Given the description of an element on the screen output the (x, y) to click on. 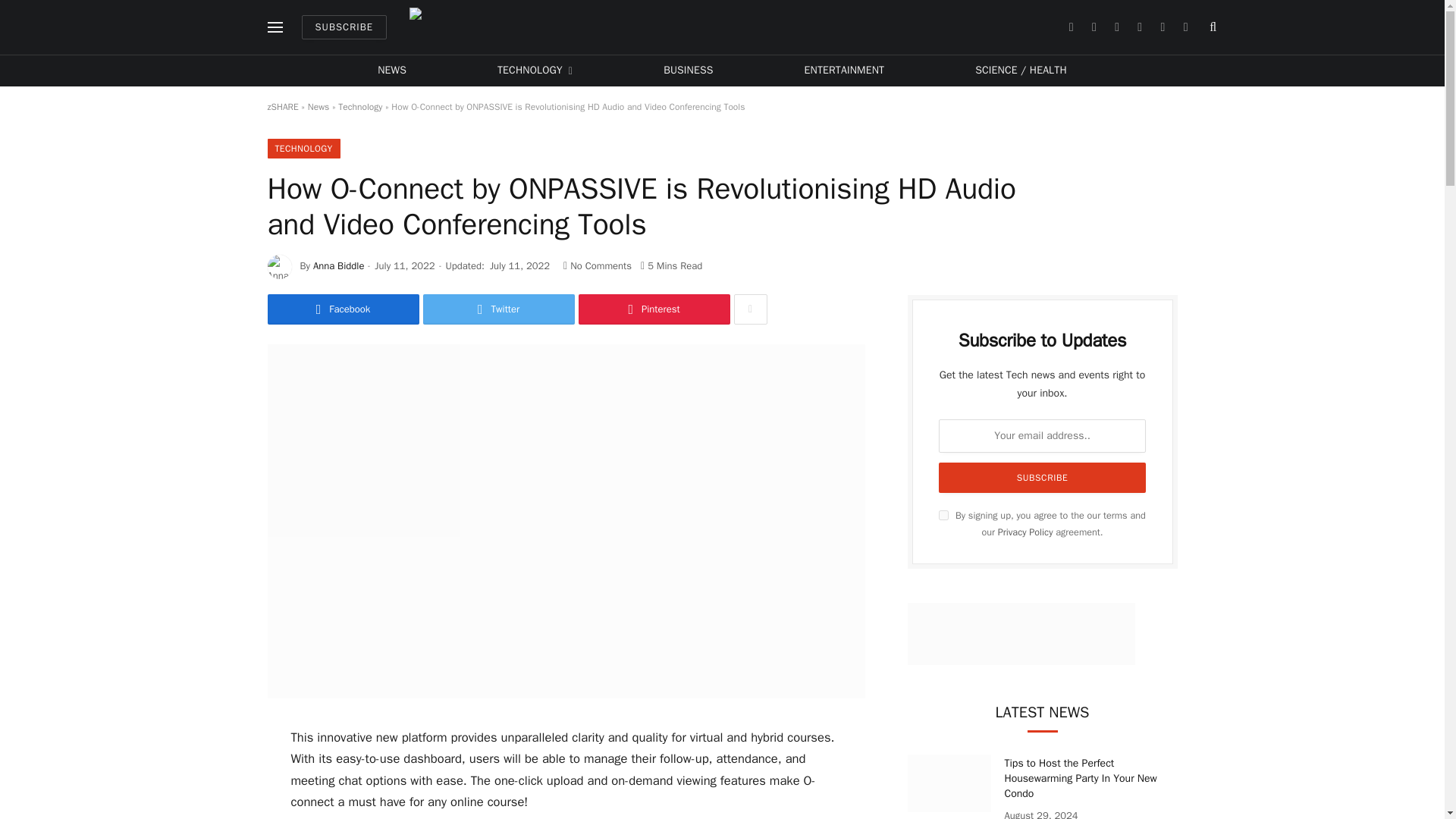
Technology (359, 106)
Subscribe (1043, 477)
Show More Social Sharing (750, 309)
zSHARE (729, 27)
TECHNOLOGY (534, 70)
TECHNOLOGY (302, 148)
Share on Twitter (499, 309)
BUSINESS (687, 70)
News (318, 106)
